Given the description of an element on the screen output the (x, y) to click on. 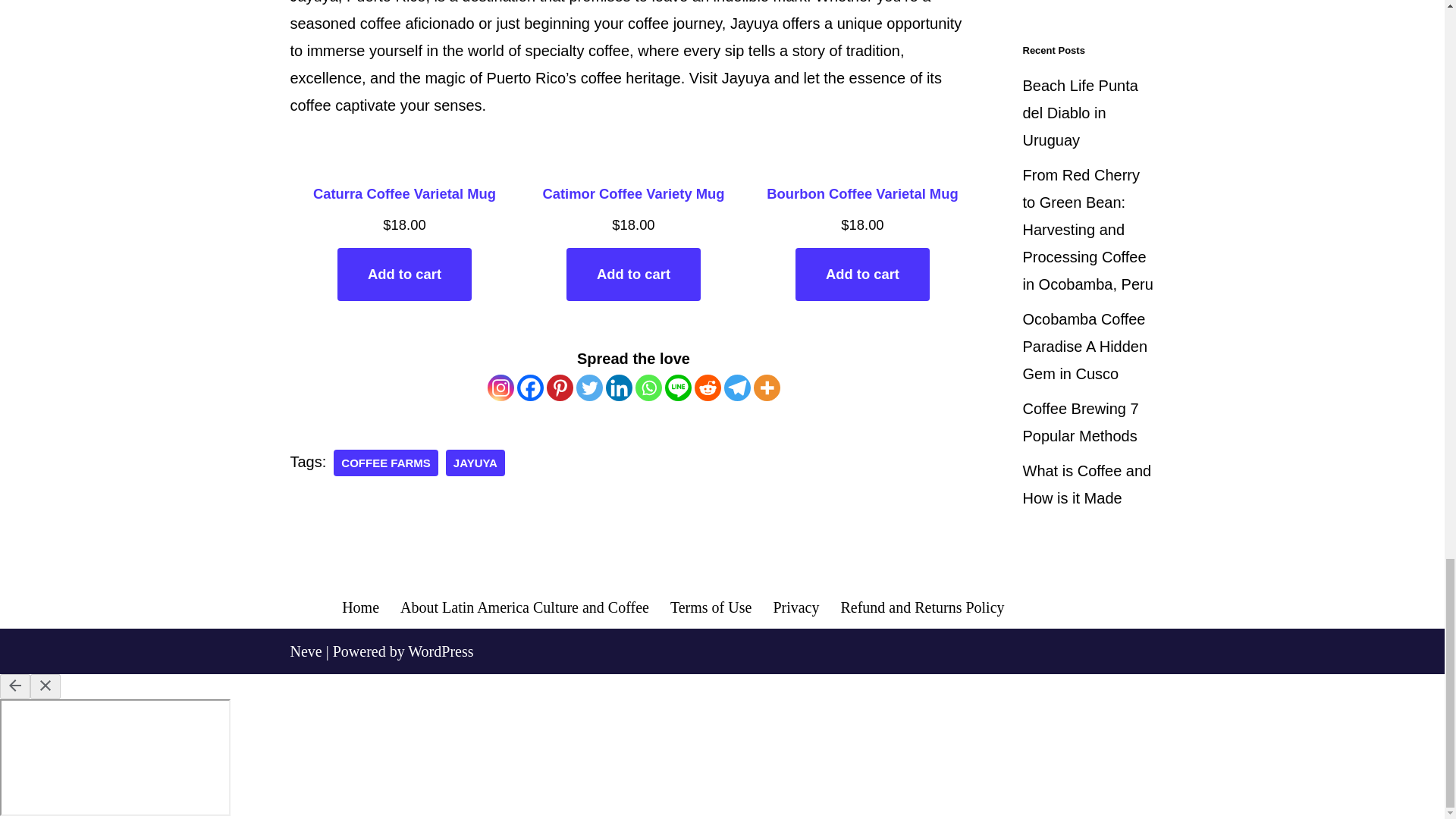
Linkedin (618, 387)
Twitter (589, 387)
jayuya (475, 462)
coffee farms (385, 462)
Line (676, 387)
Reddit (707, 387)
Pinterest (559, 387)
Facebook (529, 387)
More (767, 387)
Telegram (736, 387)
